Given the description of an element on the screen output the (x, y) to click on. 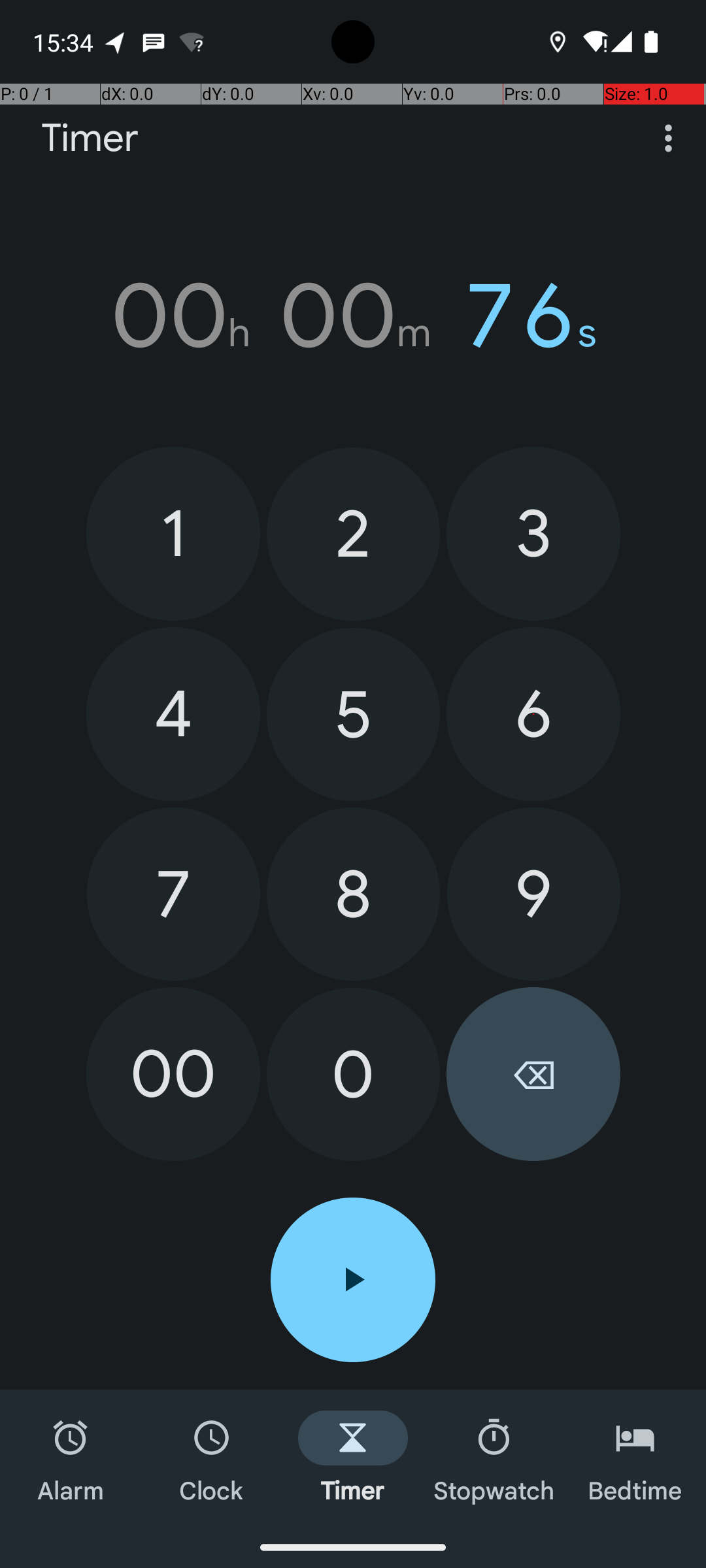
00h 00m 76s Element type: android.widget.TextView (353, 315)
